Given the description of an element on the screen output the (x, y) to click on. 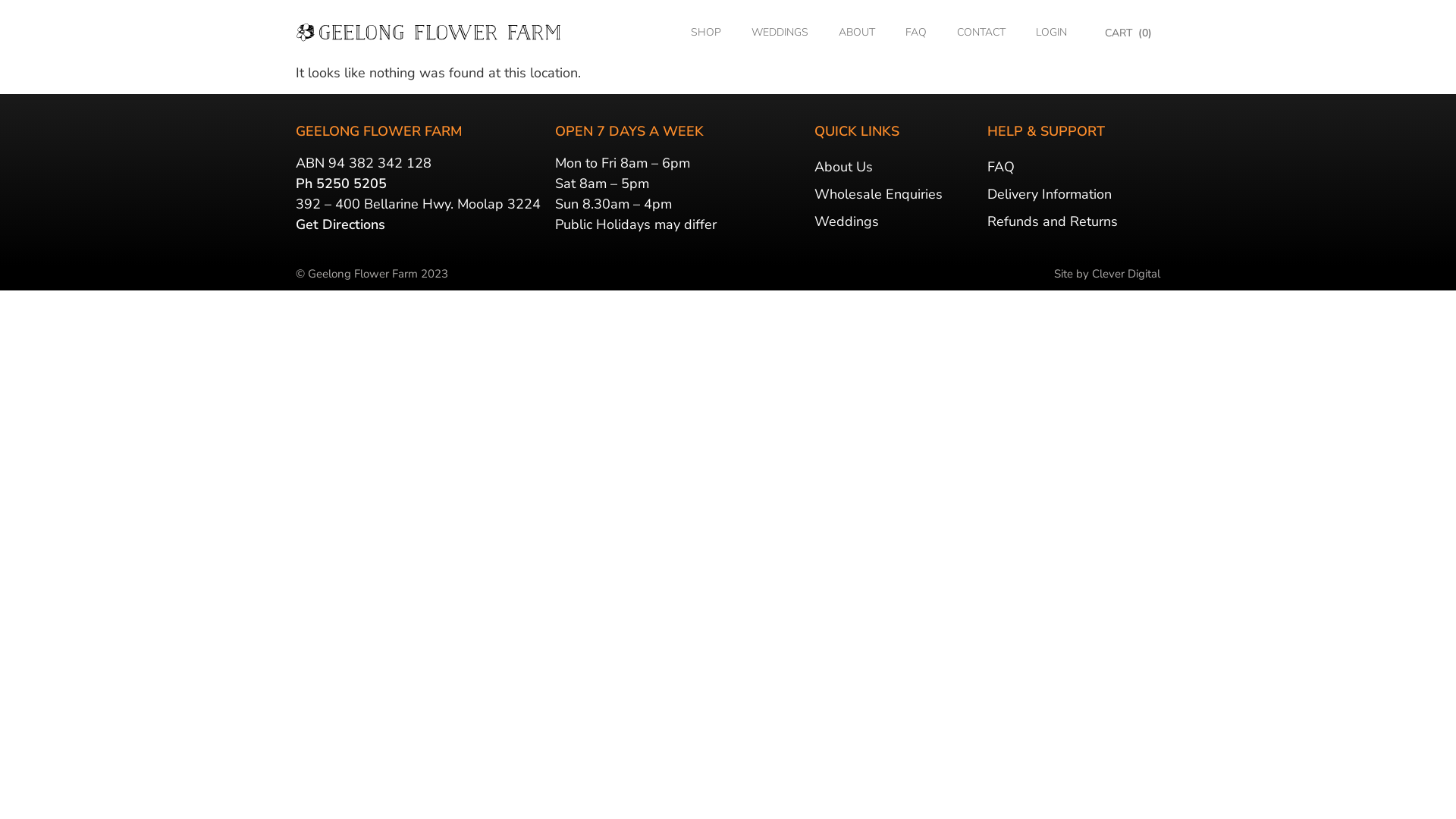
WEDDINGS Element type: text (779, 32)
Weddings Element type: text (896, 221)
CART
0 Element type: text (1129, 32)
Delivery Information Element type: text (1073, 193)
Refunds and Returns Element type: text (1073, 221)
Ph 5250 5205 Element type: text (340, 183)
Wholesale Enquiries Element type: text (896, 193)
Get Directions Element type: text (340, 224)
SHOP Element type: text (705, 32)
LOGIN Element type: text (1051, 32)
ABOUT Element type: text (856, 32)
FAQ Element type: text (1073, 166)
FAQ Element type: text (915, 32)
About Us Element type: text (896, 166)
CONTACT Element type: text (980, 32)
Clever Digital Element type: text (1126, 273)
